Given the description of an element on the screen output the (x, y) to click on. 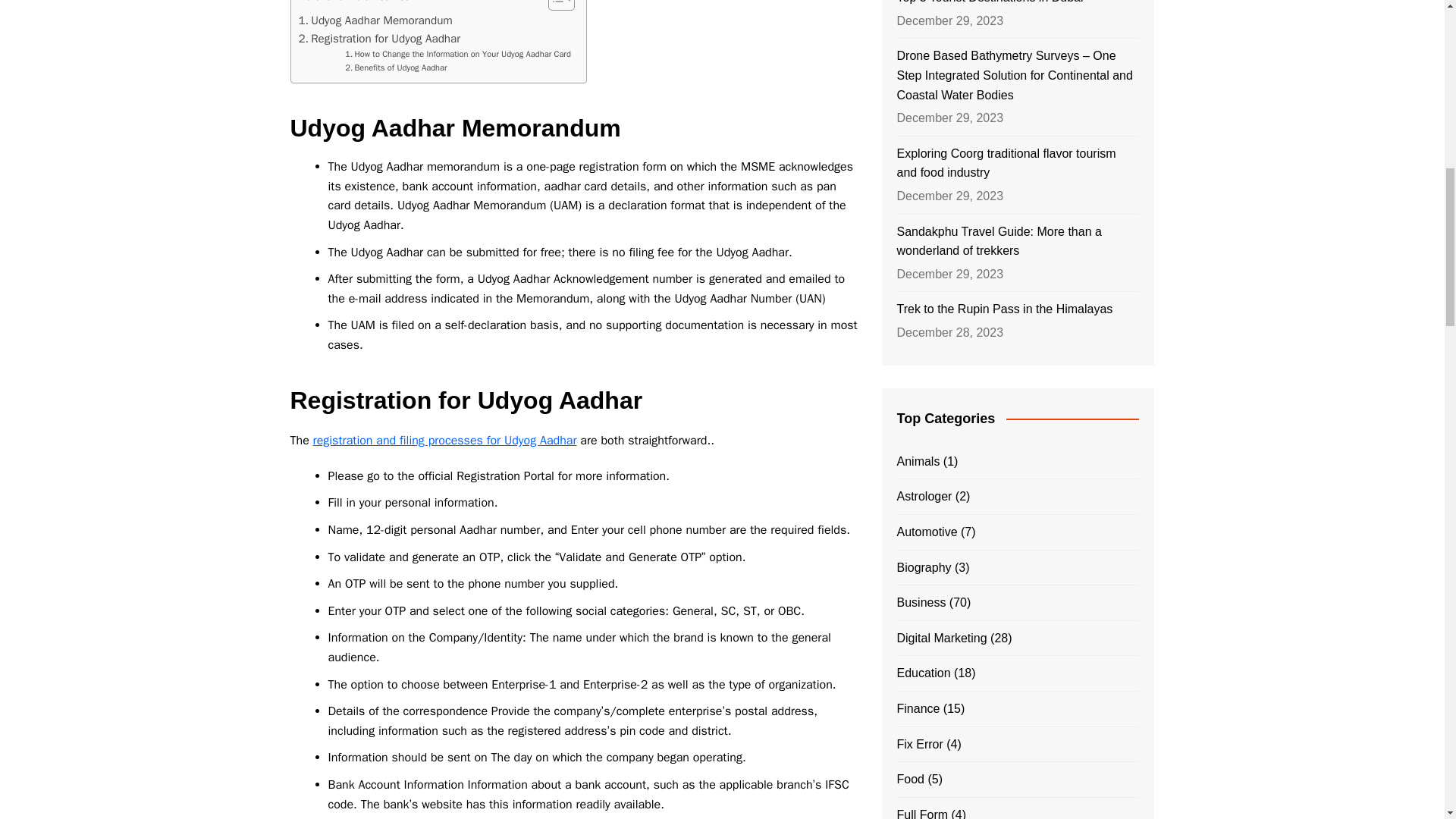
Registration for Udyog Aadhar (379, 38)
Udyog Aadhar Memorandum (375, 20)
Benefits of Udyog Aadhar (395, 68)
Registration for Udyog Aadhar (379, 38)
Udyog Aadhar Memorandum (375, 20)
How to Change the Information on Your Udyog Aadhar Card (457, 54)
registration and filing processes for Udyog Aadhar (444, 440)
How to Change the Information on Your Udyog Aadhar Card (457, 54)
Benefits of Udyog Aadhar (395, 68)
